Given the description of an element on the screen output the (x, y) to click on. 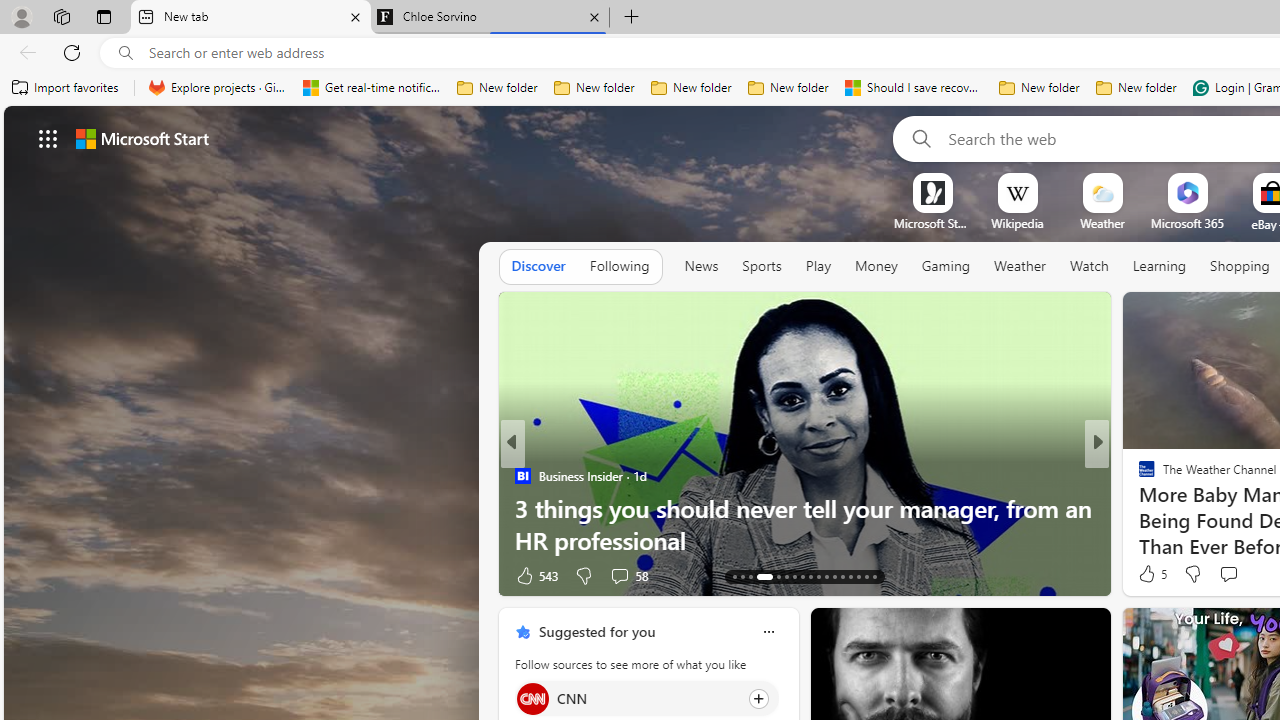
Learning (1159, 267)
New folder (1136, 88)
Class: icon-img (768, 632)
661 Like (1151, 574)
SlashGear (1138, 475)
Hide this story (1050, 632)
93 Like (1149, 574)
AutomationID: tab-40 (857, 576)
151 Like (1151, 574)
AutomationID: tab-39 (850, 576)
5 Like (1151, 574)
